Given the description of an element on the screen output the (x, y) to click on. 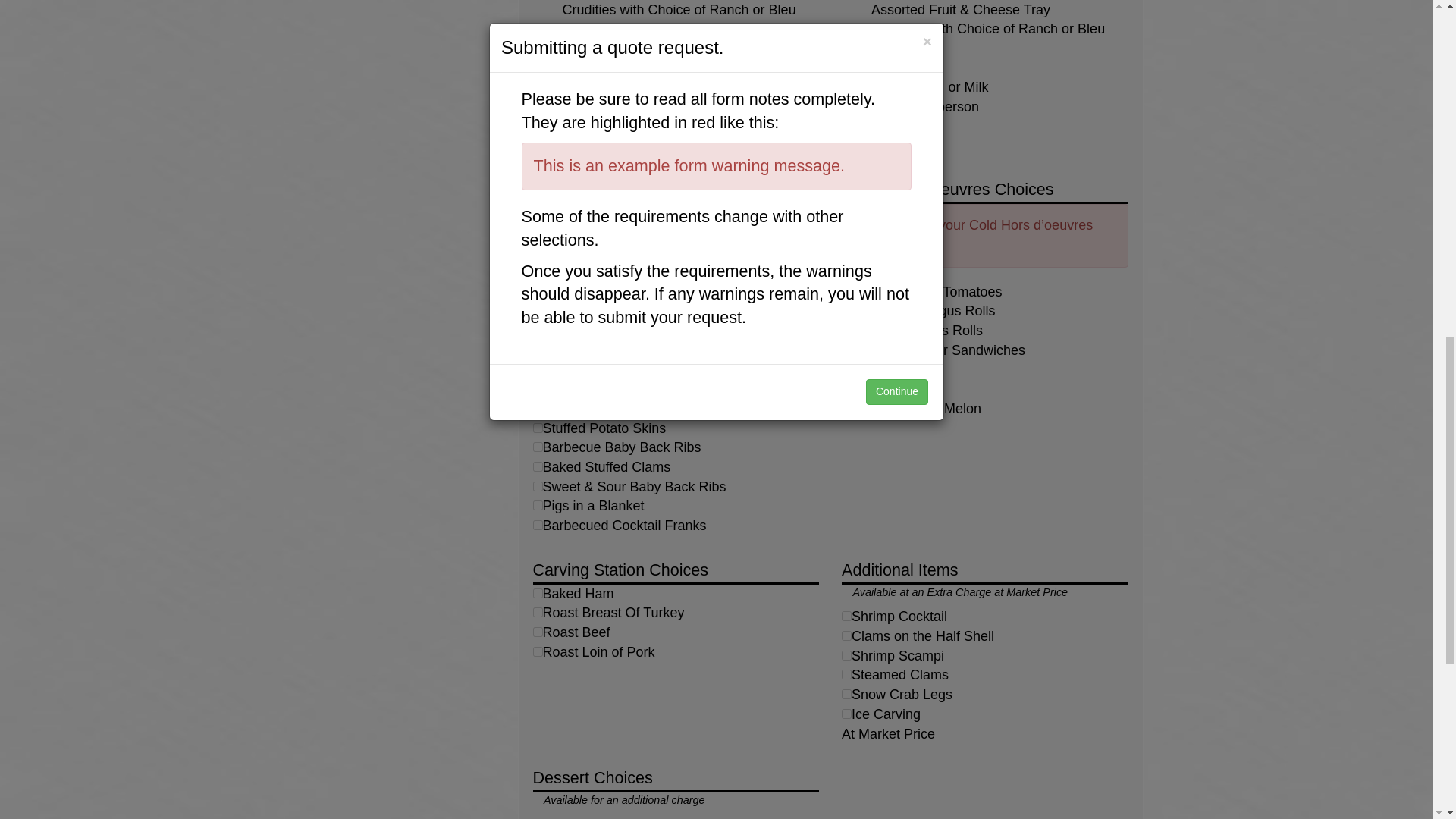
Teriyaki Chicken Wings (536, 369)
Turkey Asparagus Rolls (846, 310)
Ham Asparagus Rolls (846, 329)
Barbecue Baby Back Ribs (536, 447)
Stuffed Potato Skins (536, 428)
Assorted Mini Quiche (536, 291)
Stuffed Mushrooms (536, 329)
Baked Stuffed Clams (536, 466)
Scallops Wrapped in Bacon (536, 408)
Sausage Roll ups (536, 349)
Buffalo Chicken Wings (536, 388)
Barbecued Cocktail Franks (536, 524)
Stuffed Cherry Tomatoes (846, 291)
Pigs in a Blanket (536, 505)
Swedish Meatballs (536, 310)
